Given the description of an element on the screen output the (x, y) to click on. 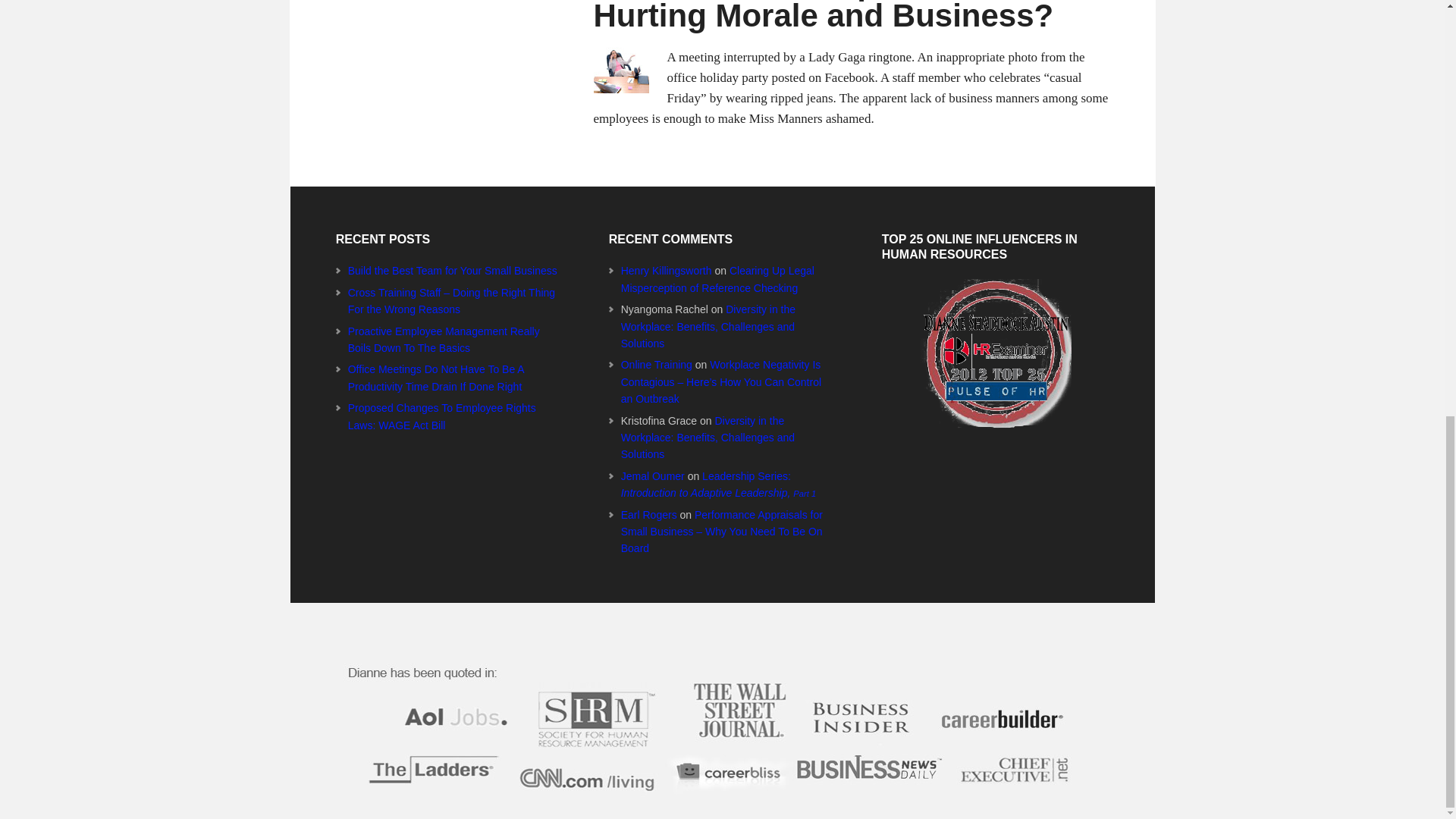
HR Examiner Top 25 (994, 353)
Dianne has been quoted in (721, 738)
